Given the description of an element on the screen output the (x, y) to click on. 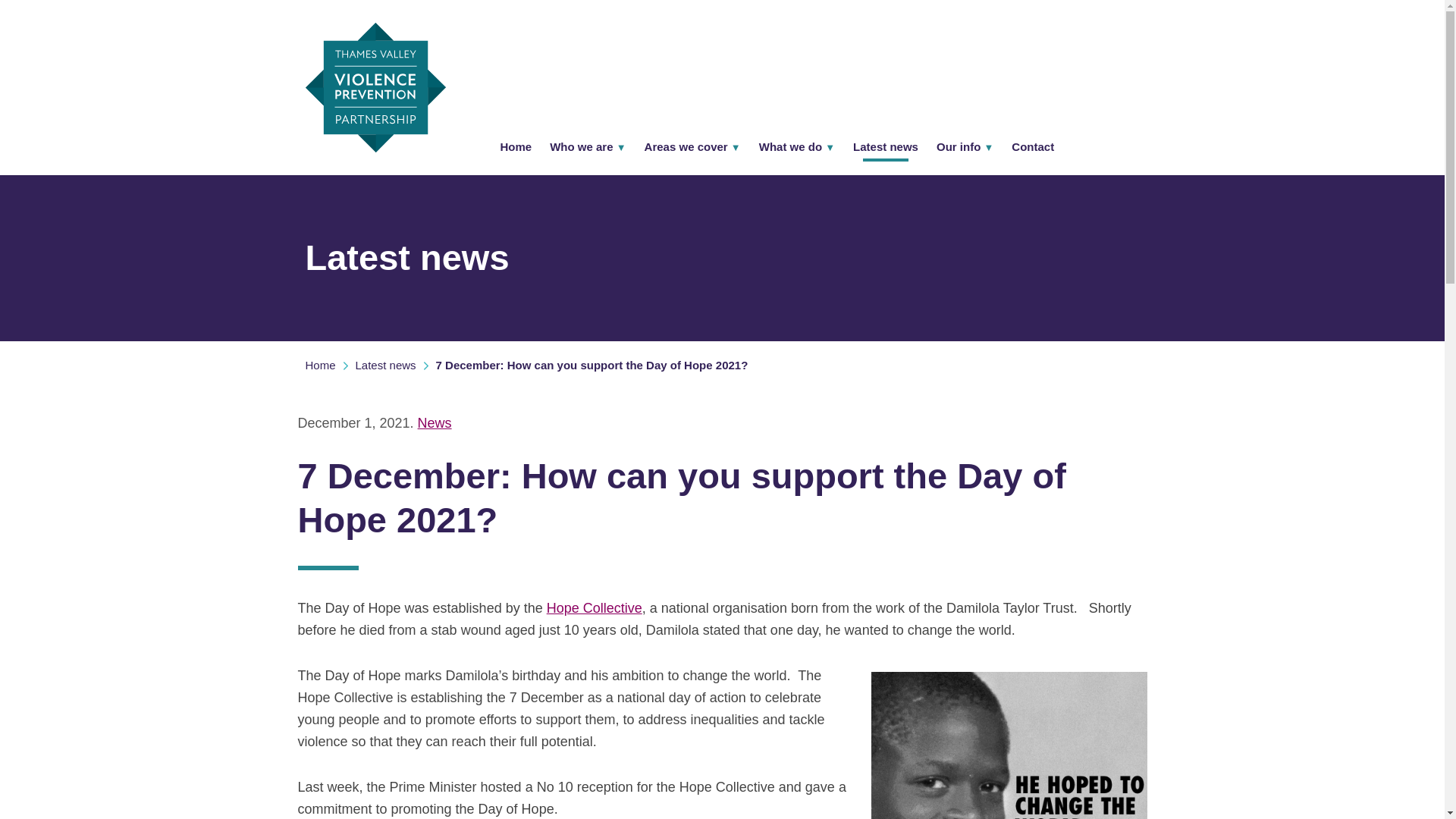
Areas we cover (691, 146)
Contact (1032, 146)
Latest news (395, 365)
Hope Collective (594, 607)
Who we are (587, 146)
Latest news (885, 146)
Our info (965, 146)
What we do (796, 146)
Home (516, 146)
Home (329, 365)
News (434, 422)
